Given the description of an element on the screen output the (x, y) to click on. 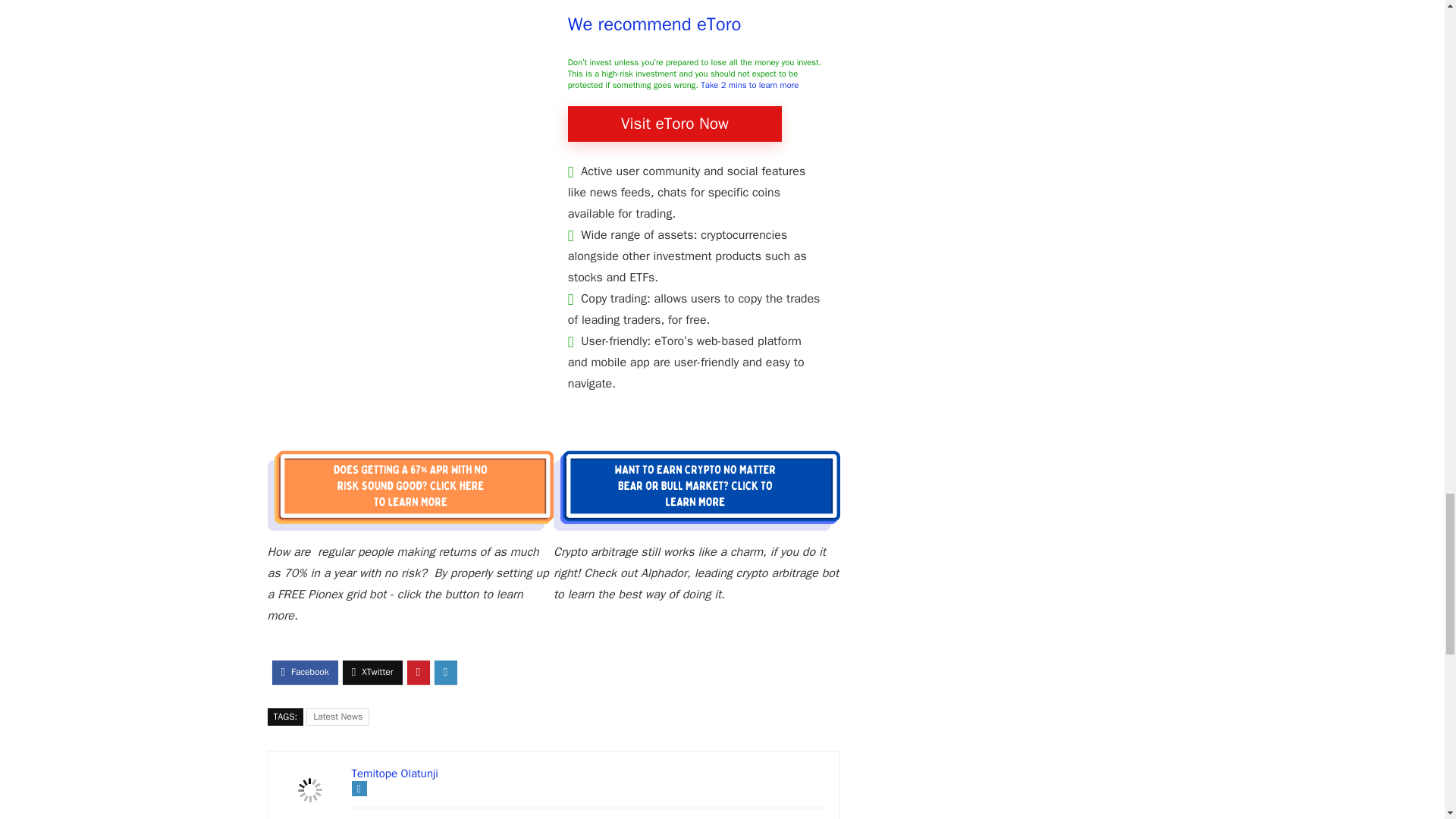
Pionex (409, 524)
eToro (654, 24)
eToro (674, 123)
Alphador (696, 524)
